Given the description of an element on the screen output the (x, y) to click on. 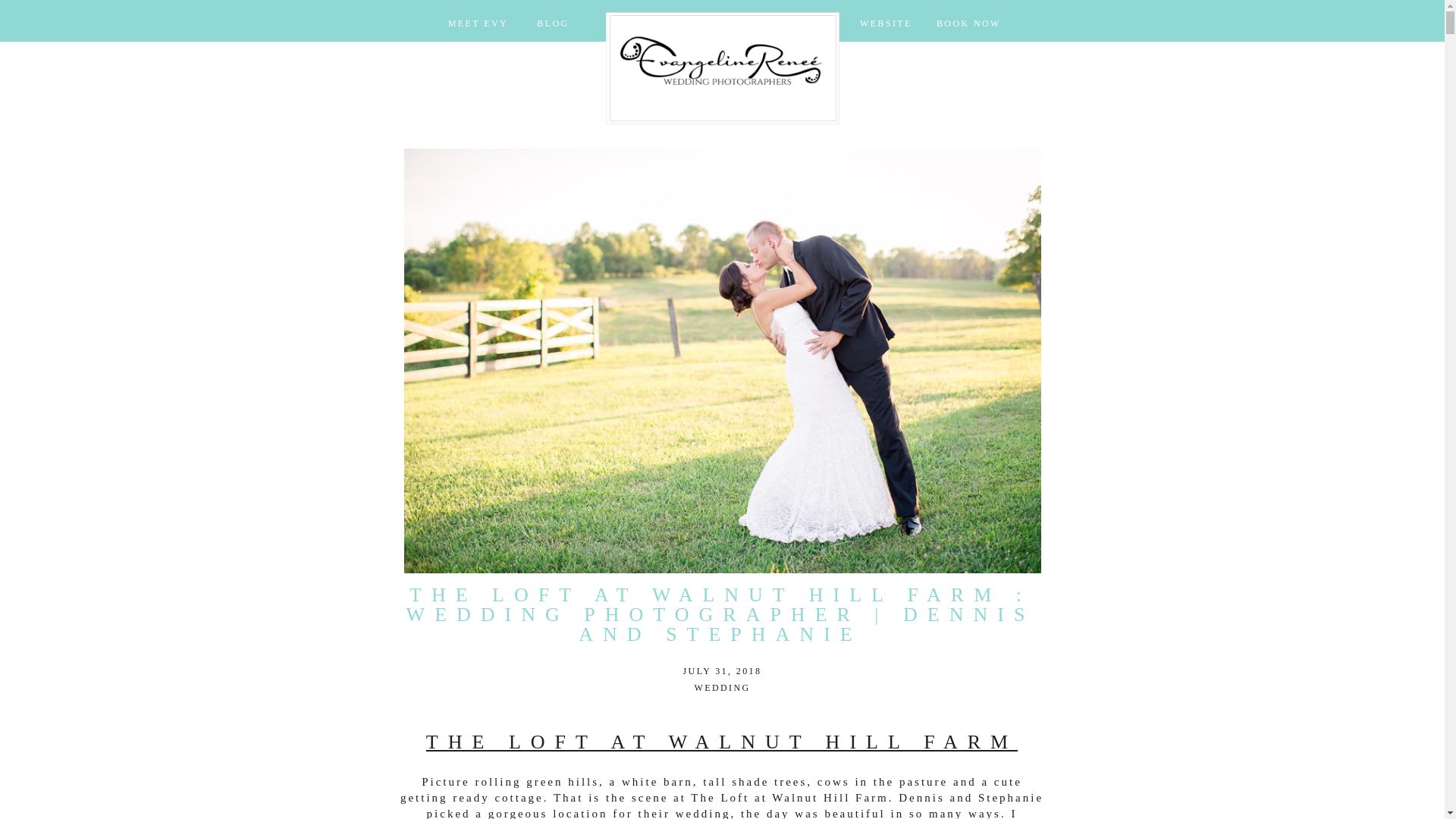
THE LOFT AT WALNUT HILL FARM (721, 741)
WEDDING (721, 687)
WEBSITE (885, 24)
MEET EVY (477, 24)
BOOK NOW (969, 24)
BLOG (553, 24)
